Given the description of an element on the screen output the (x, y) to click on. 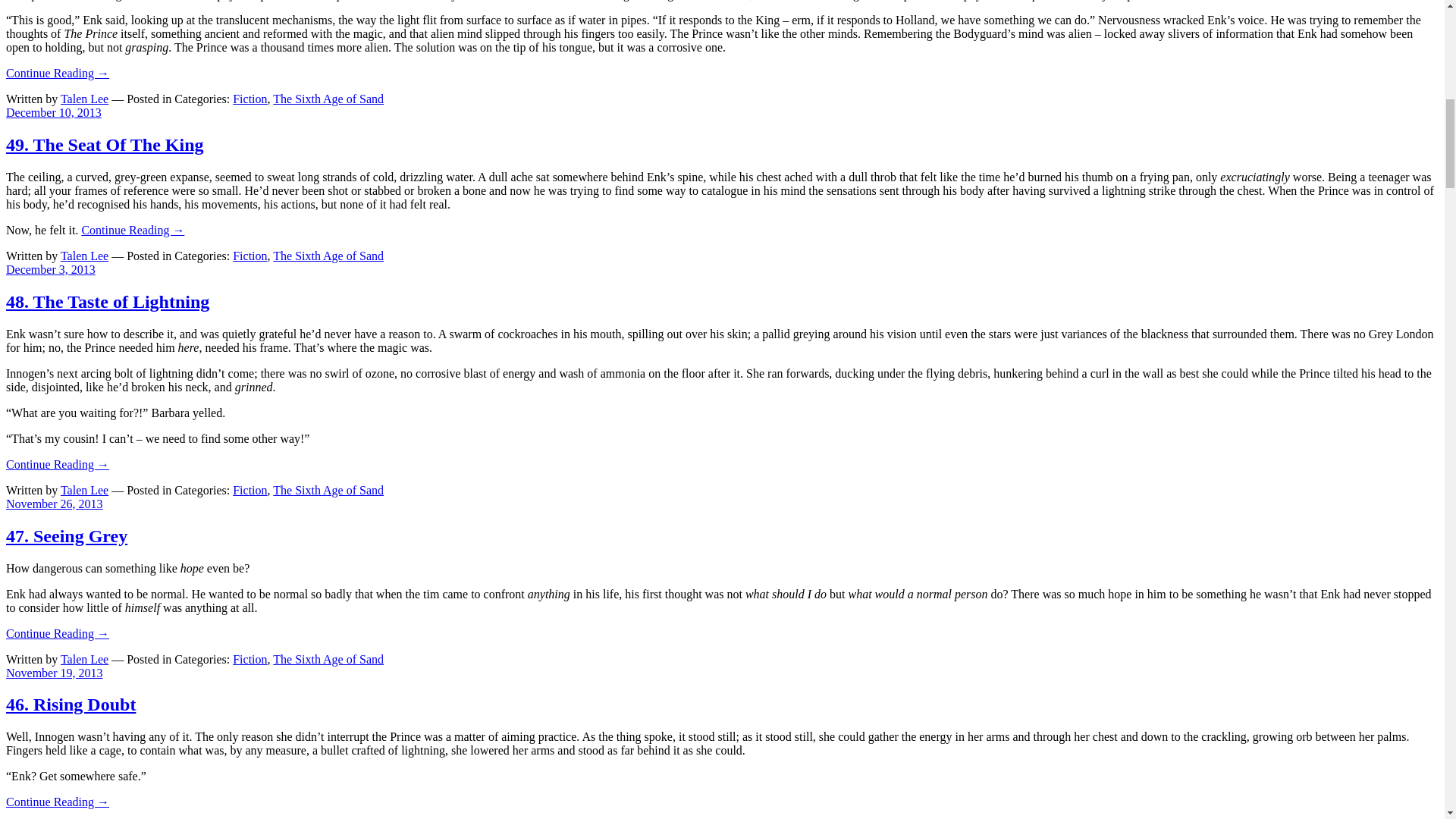
Posts by Talen Lee (84, 658)
Posts by Talen Lee (84, 255)
Talen Lee (84, 255)
The Sixth Age of Sand (328, 98)
Posts by Talen Lee (84, 490)
The Sixth Age of Sand (328, 490)
Talen Lee (84, 98)
The Sixth Age of Sand (328, 255)
Fiction (249, 490)
Talen Lee (84, 490)
Fiction (249, 98)
Talen Lee (84, 658)
Posts by Talen Lee (84, 98)
Fiction (249, 255)
